Given the description of an element on the screen output the (x, y) to click on. 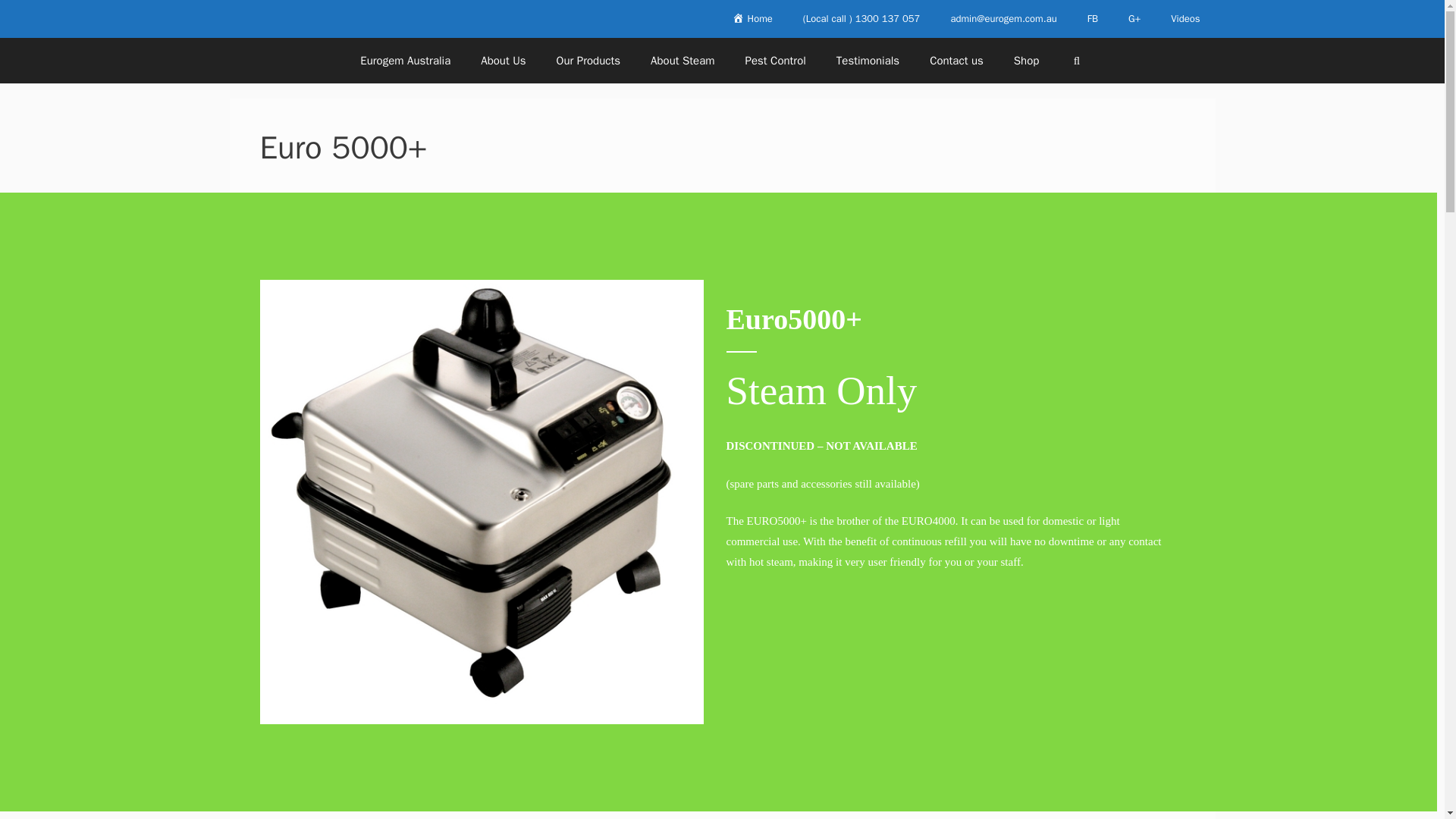
Home (752, 18)
FB (1092, 18)
Videos (1185, 18)
